Given the description of an element on the screen output the (x, y) to click on. 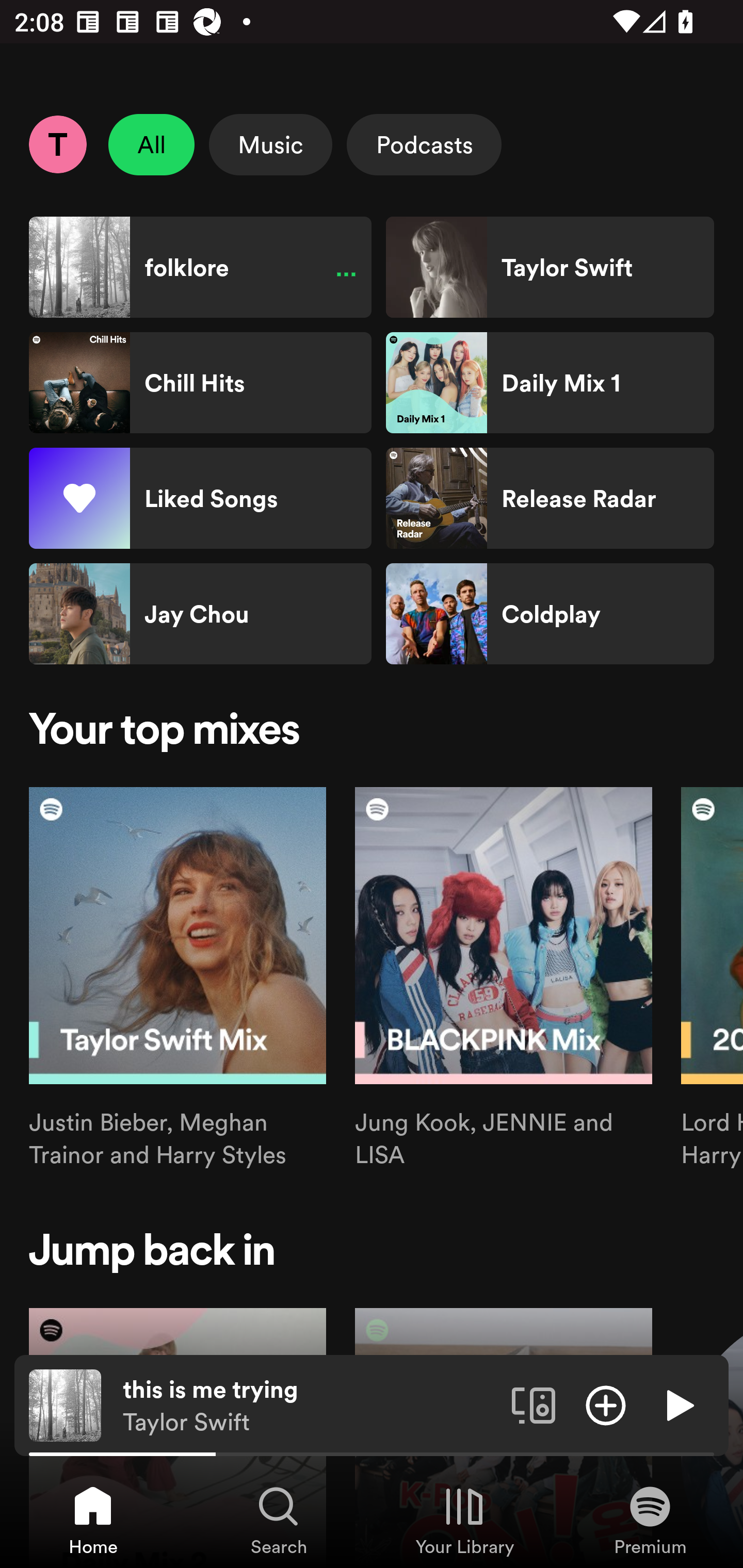
Profile (57, 144)
All Unselect All (151, 144)
Music Select Music (270, 144)
Podcasts Select Podcasts (423, 144)
folklore Shortcut folklore Paused (199, 267)
Taylor Swift Shortcut Taylor Swift (549, 267)
Chill Hits Shortcut Chill Hits (199, 382)
Daily Mix 1 Shortcut Daily Mix 1 (549, 382)
Liked Songs Shortcut Liked Songs (199, 498)
Release Radar Shortcut Release Radar (549, 498)
Jay Chou Shortcut Jay Chou (199, 613)
Coldplay Shortcut Coldplay (549, 613)
this is me trying Taylor Swift (309, 1405)
The cover art of the currently playing track (64, 1404)
Connect to a device. Opens the devices menu (533, 1404)
Add item (605, 1404)
Play (677, 1404)
